Given the description of an element on the screen output the (x, y) to click on. 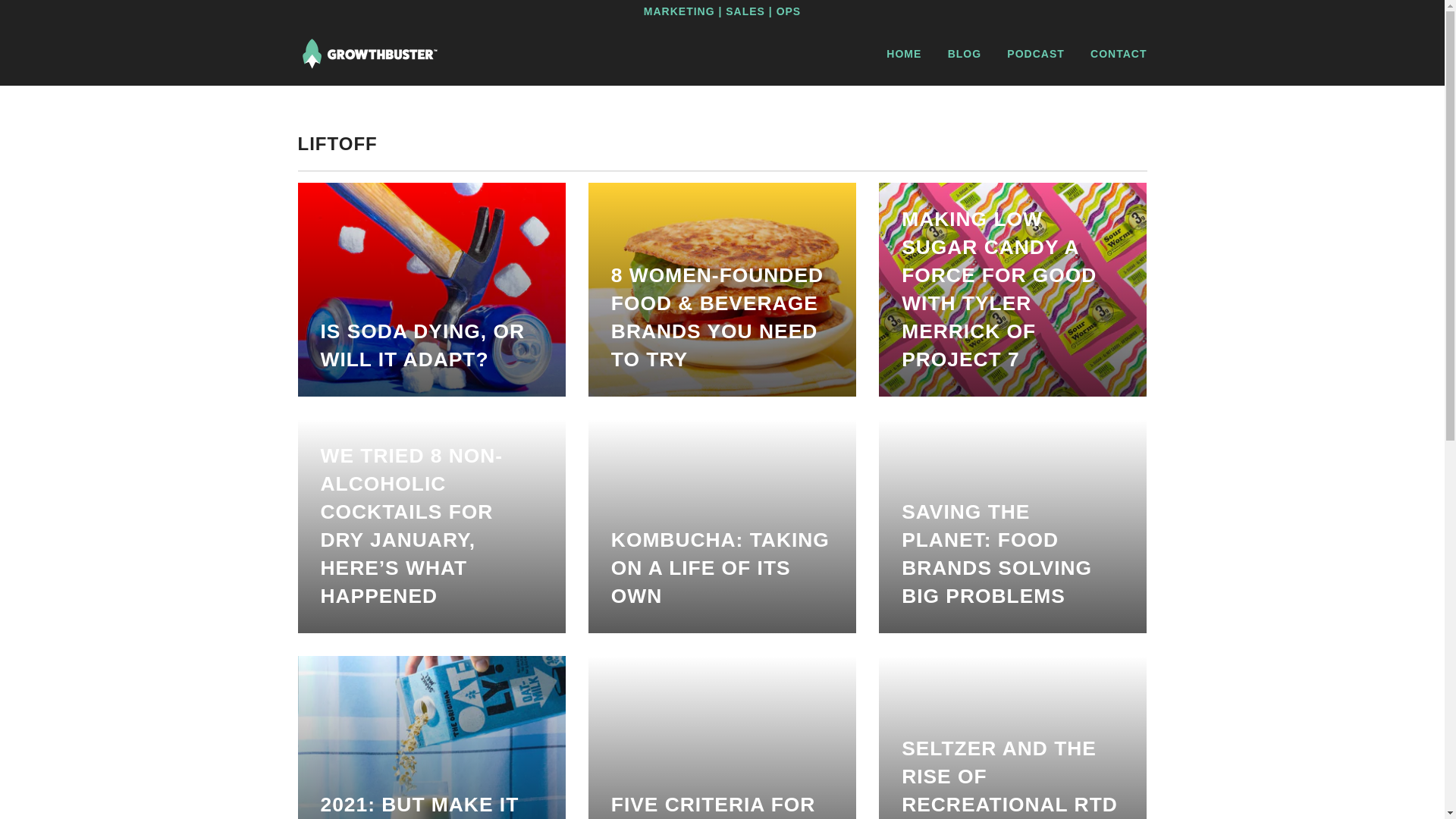
KOMBUCHA: TAKING ON A LIFE OF ITS OWN (722, 526)
2021: BUT MAKE IT SUSTAINABLE (430, 737)
IS SODA DYING, OR WILL IT ADAPT? (430, 289)
SELTZER AND THE RISE OF RECREATIONAL RTD BEVERAGES (1013, 737)
CONTACT (1118, 53)
FIVE CRITERIA FOR GOOD SOCIAL (722, 737)
PODCAST (1035, 53)
SAVING THE PLANET: FOOD BRANDS SOLVING BIG PROBLEMS (1013, 526)
